Given the description of an element on the screen output the (x, y) to click on. 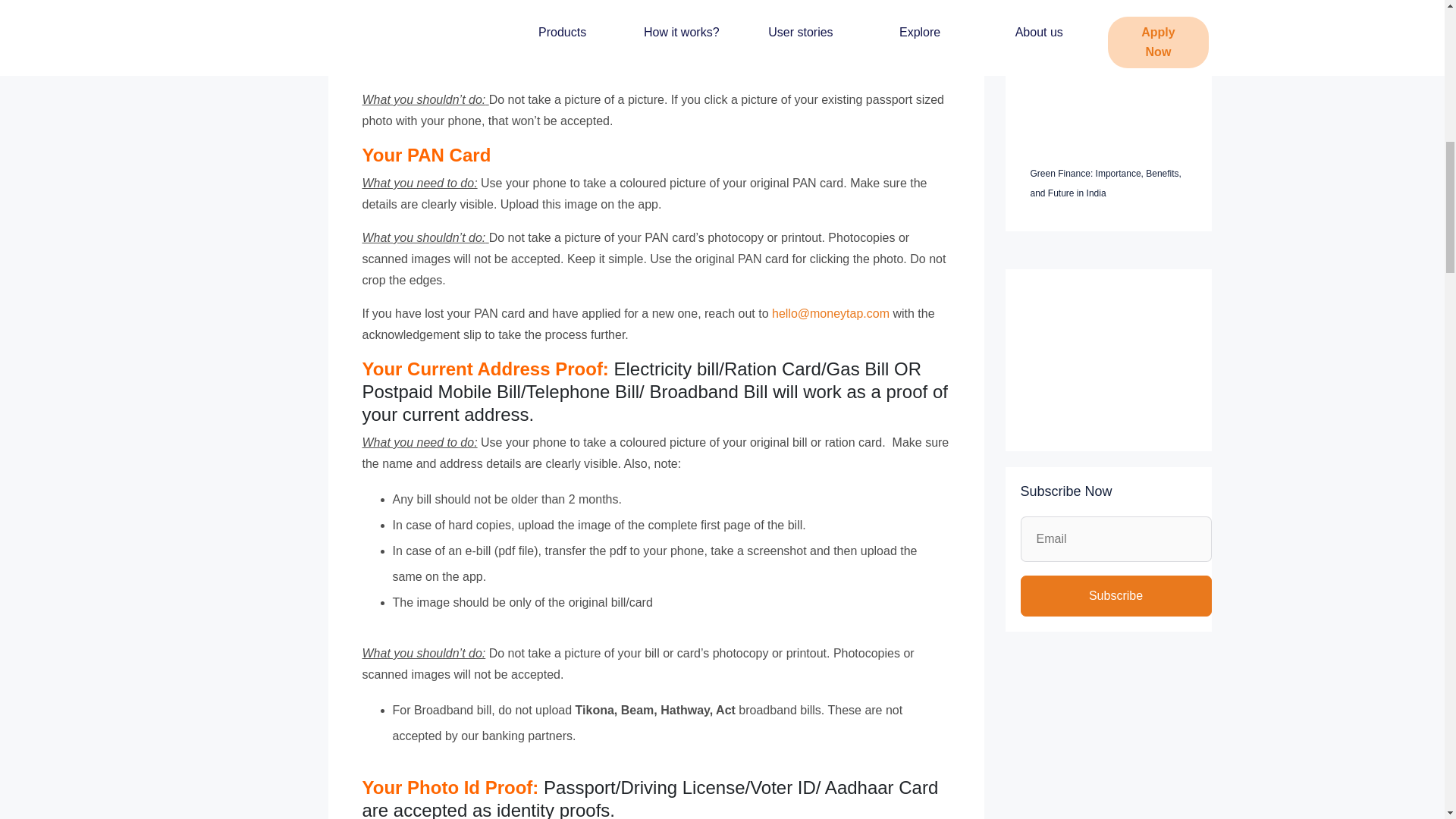
Green Finance: Importance, Benefits, and Future in India (1104, 183)
5 Cs of Credit: What They Are and Why Are They Important (1099, 52)
Subscribe (1115, 595)
